Given the description of an element on the screen output the (x, y) to click on. 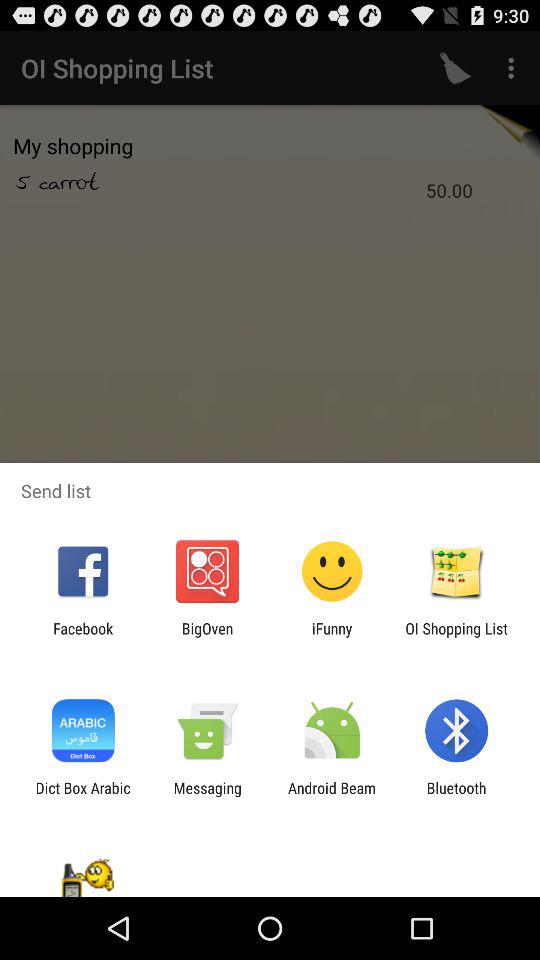
launch item next to the bigoven icon (83, 637)
